Given the description of an element on the screen output the (x, y) to click on. 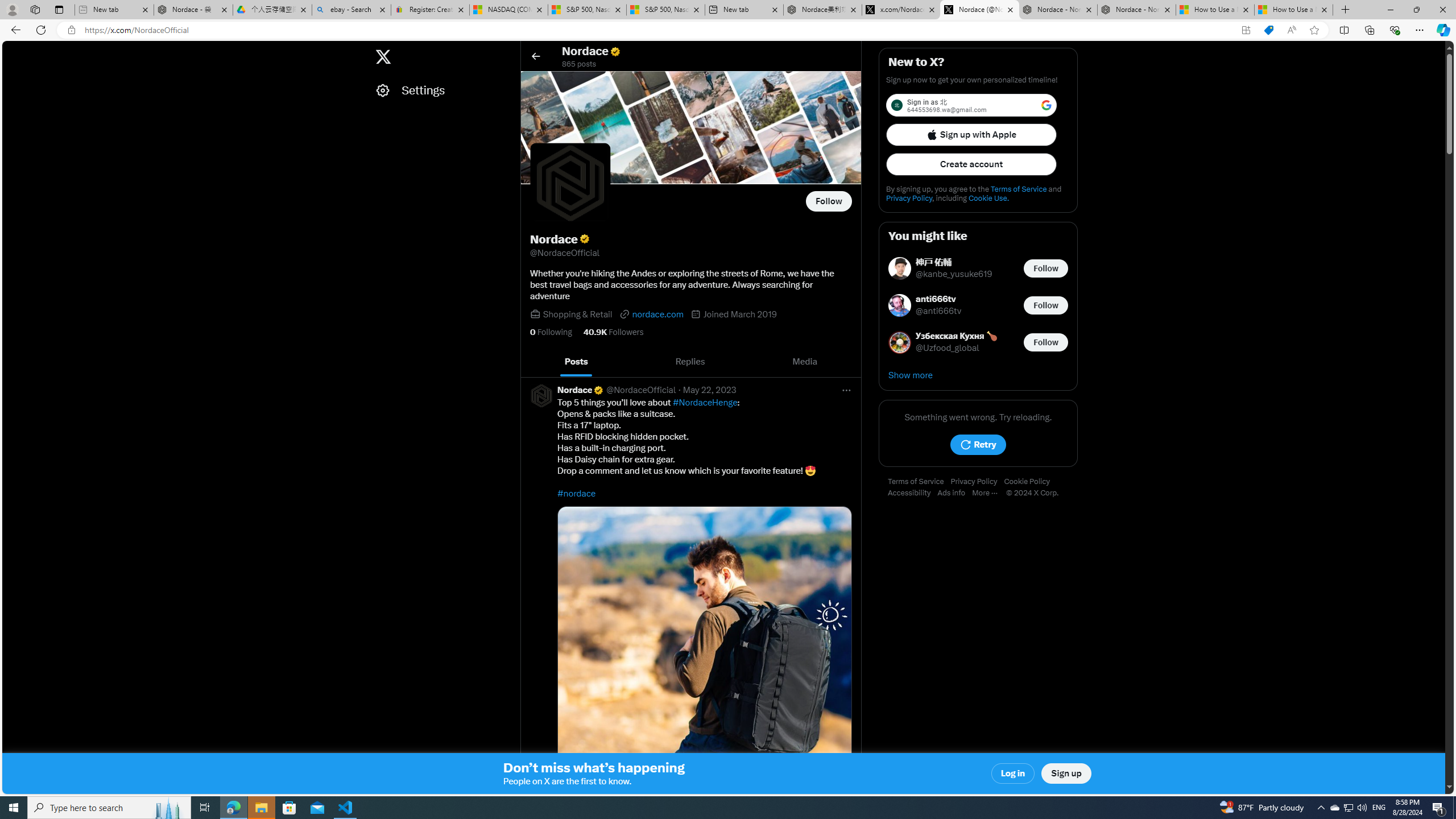
Accessibility (912, 492)
Register: Create a personal eBay account (429, 9)
App available. Install X (1245, 29)
Skip to trending (12, 50)
Next (848, 361)
@anti666tv (938, 311)
Shopping & Retail (577, 313)
Create account (971, 164)
Cookie Use. (988, 198)
Retry (978, 444)
